Given the description of an element on the screen output the (x, y) to click on. 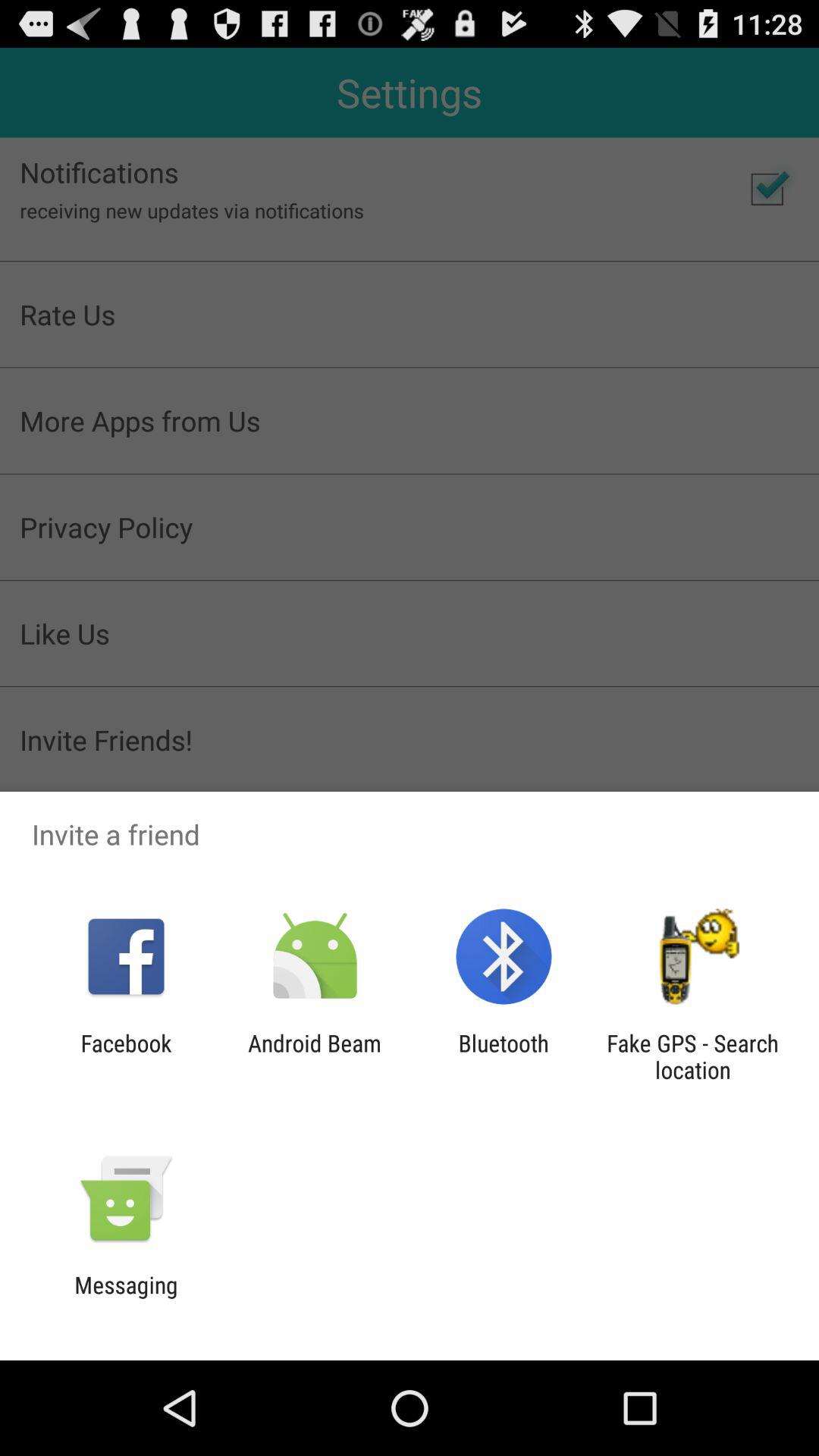
press the app next to bluetooth item (314, 1056)
